Given the description of an element on the screen output the (x, y) to click on. 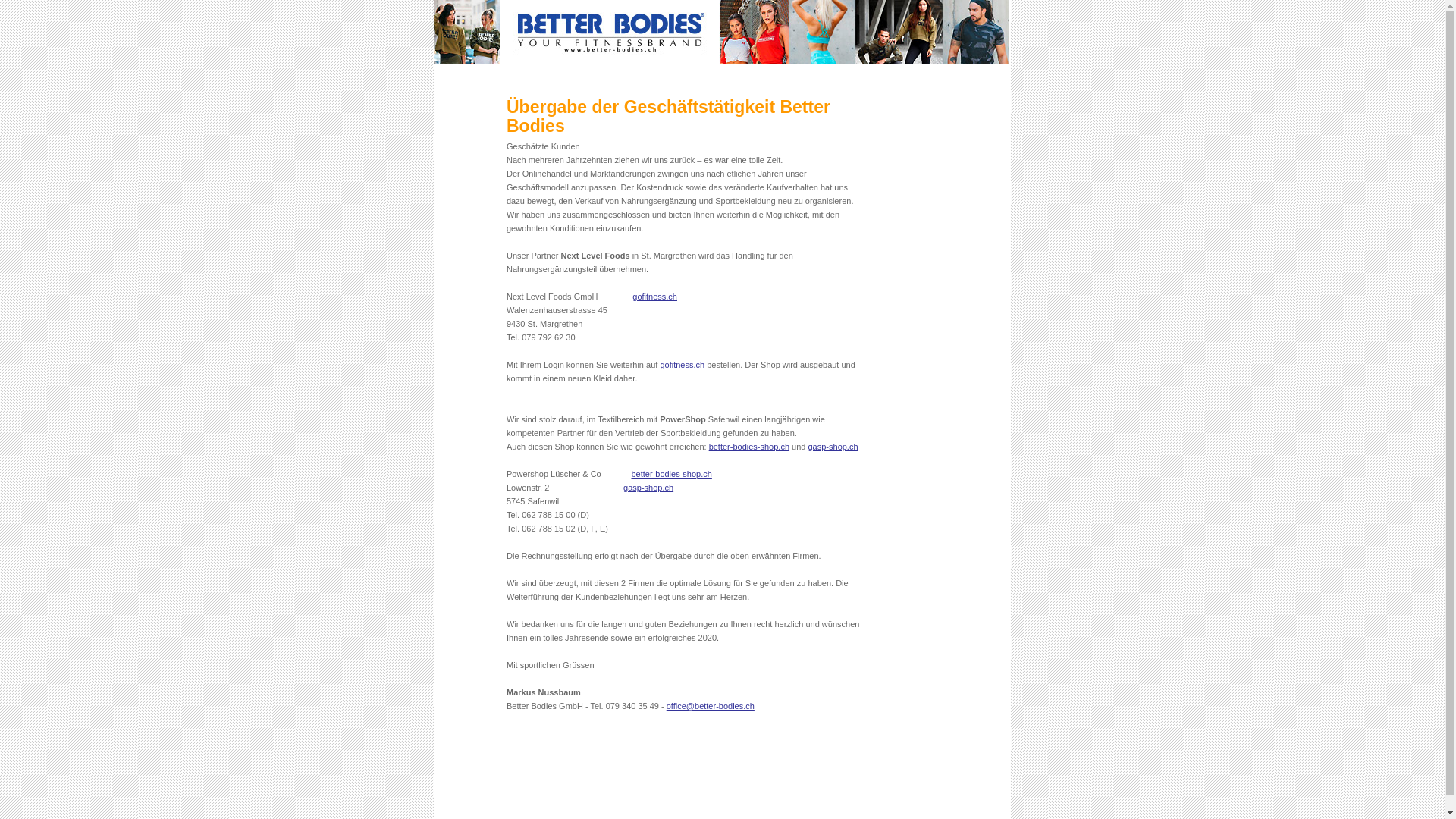
gasp-shop.ch Element type: text (648, 487)
gofitness.ch Element type: text (654, 296)
gofitness.ch Element type: text (681, 364)
better-bodies-shop.ch Element type: text (749, 446)
better-bodies-shop.ch Element type: text (670, 473)
gasp-shop.ch Element type: text (833, 446)
office@better-bodies.ch Element type: text (710, 705)
